Given the description of an element on the screen output the (x, y) to click on. 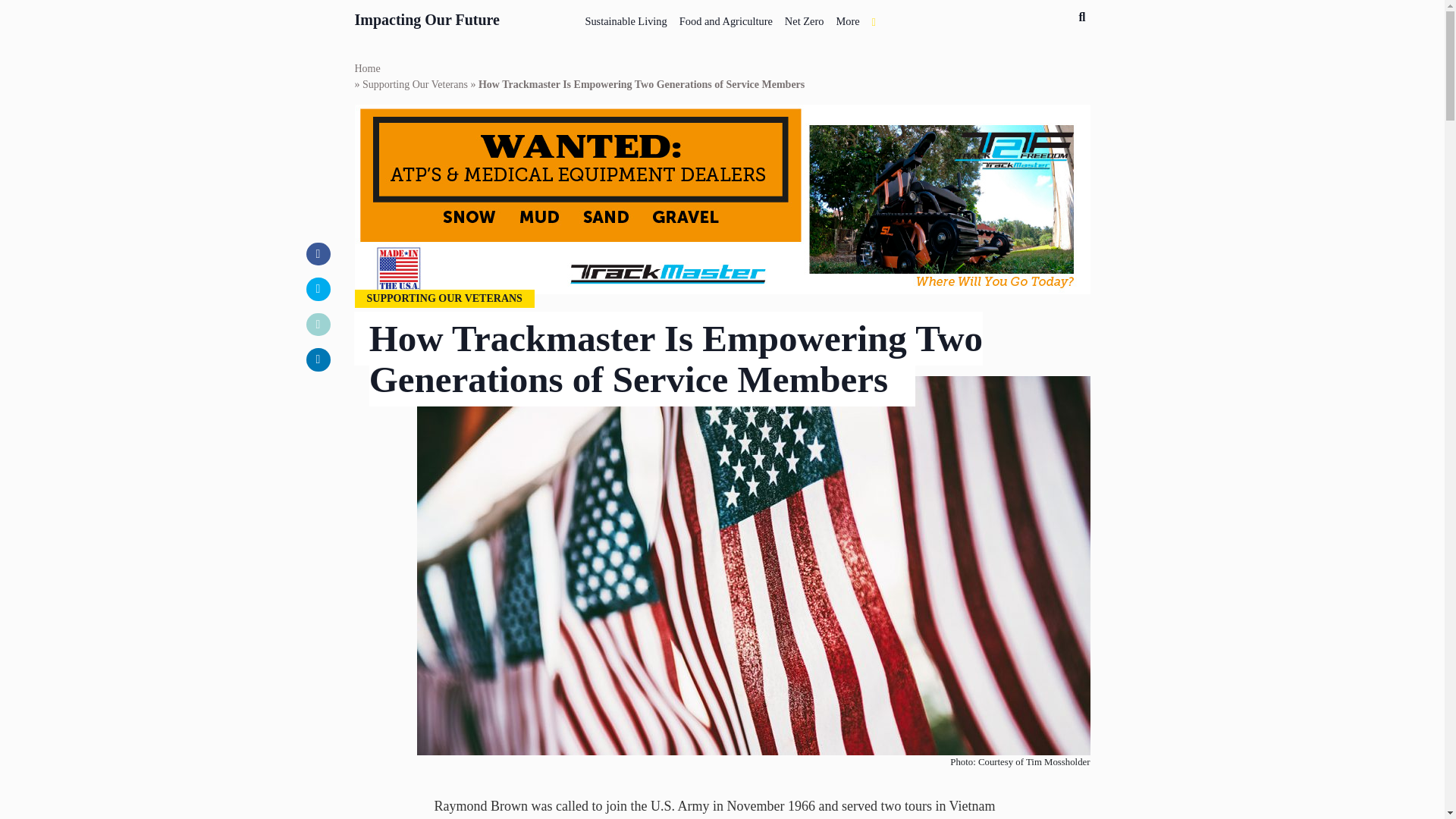
More (846, 18)
Sustainable Living (625, 18)
Impacting Our Future (427, 17)
Food and Agriculture (725, 18)
Net Zero (803, 18)
Home (367, 68)
Supporting Our Veterans (414, 84)
